Given the description of an element on the screen output the (x, y) to click on. 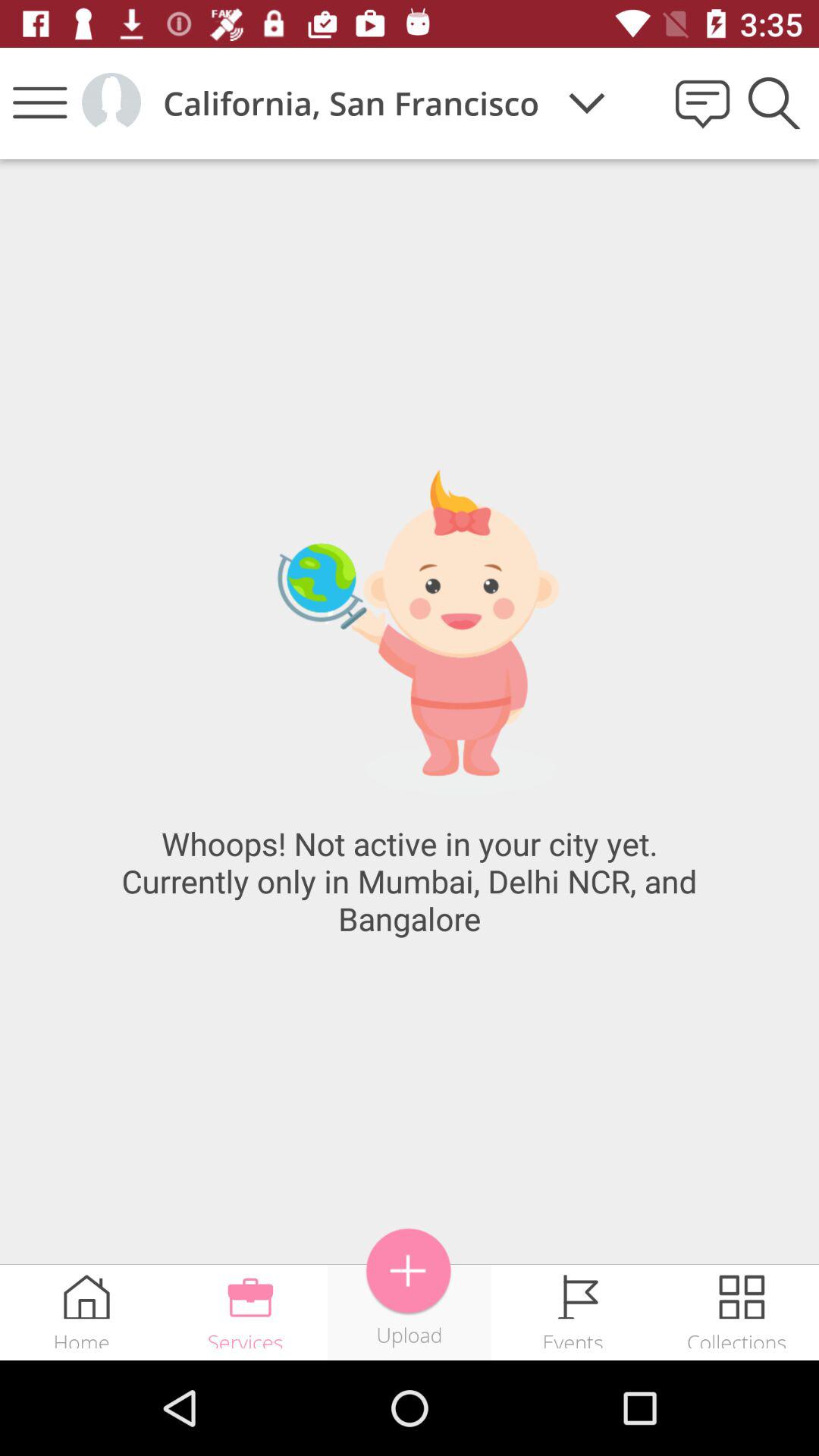
go to profile (111, 102)
